Given the description of an element on the screen output the (x, y) to click on. 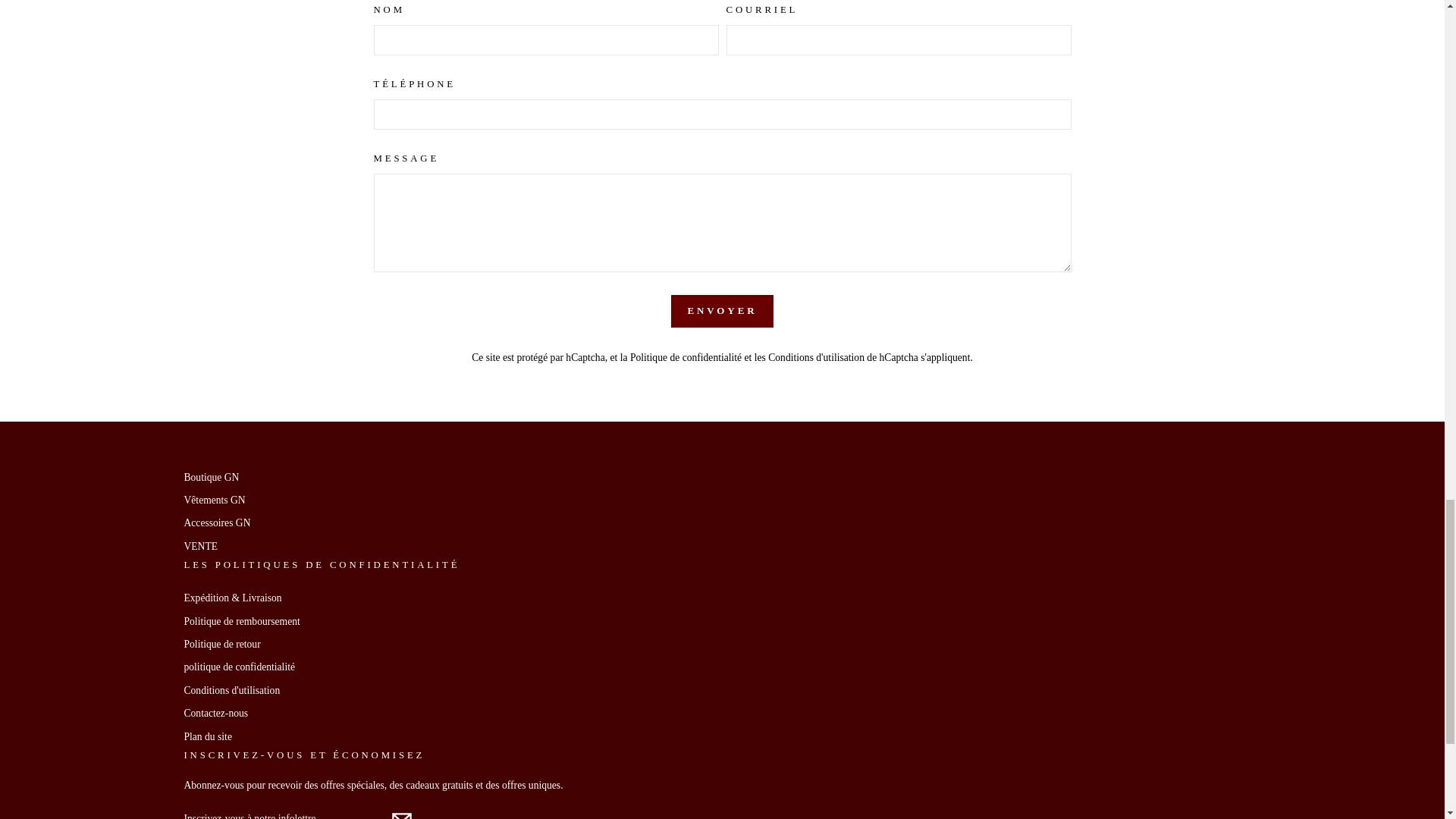
icon-email (400, 814)
